Given the description of an element on the screen output the (x, y) to click on. 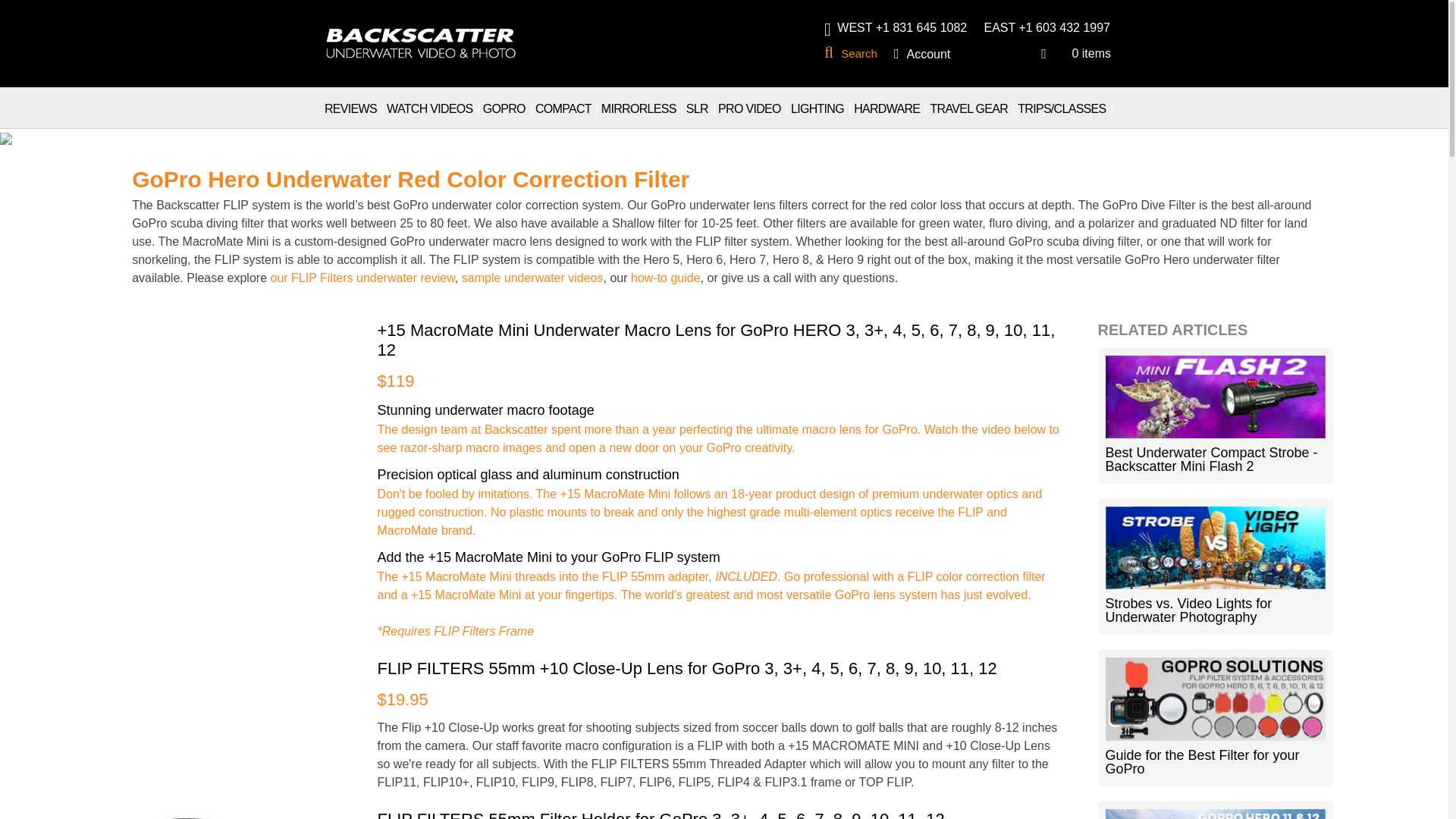
sample underwater videos (532, 277)
Backscatter.com (421, 33)
0 items (1074, 53)
Account (928, 54)
our FLIP Filters underwater review (361, 277)
how-to guide (665, 277)
Search (854, 52)
Search (854, 52)
Cart (1074, 53)
